Given the description of an element on the screen output the (x, y) to click on. 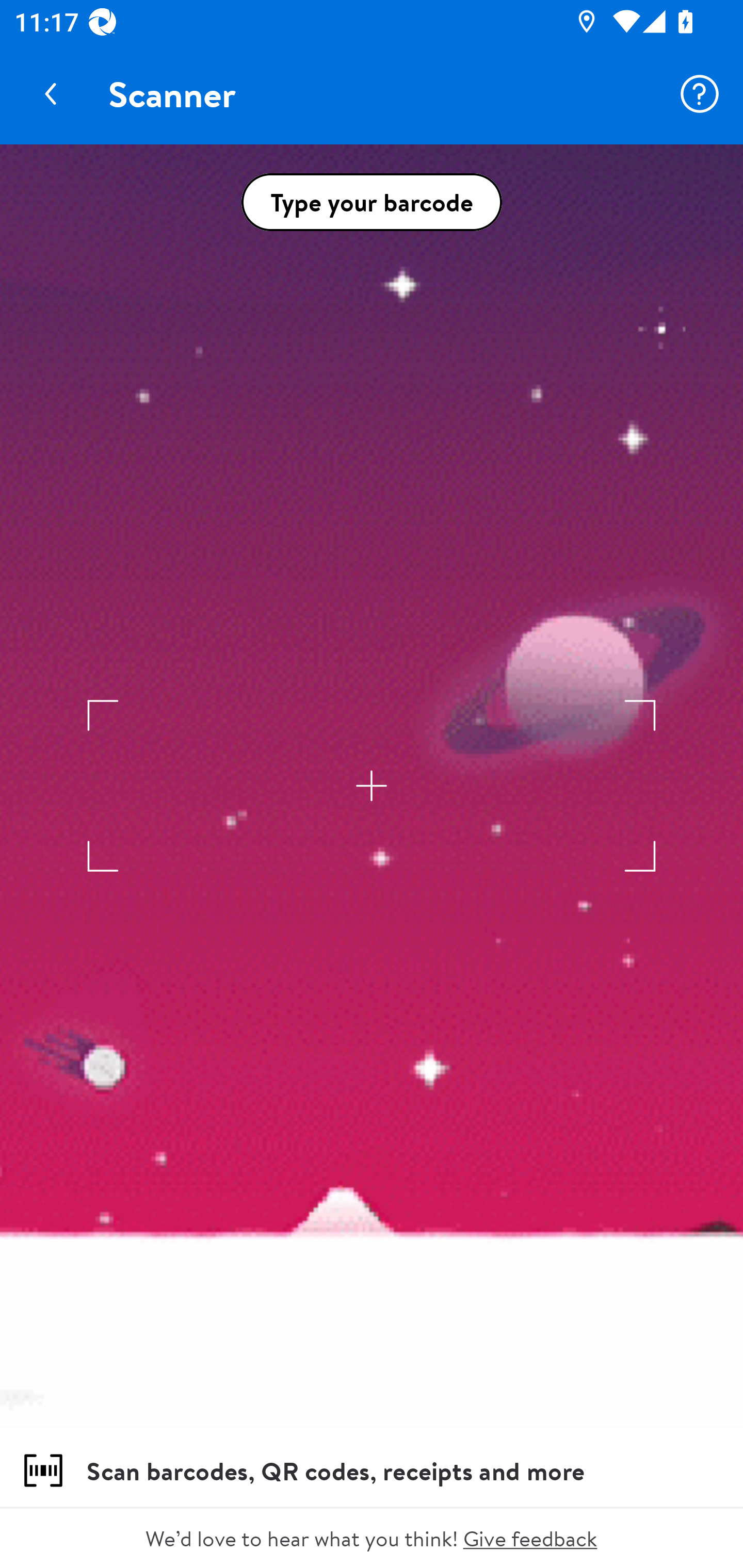
Navigate up (50, 93)
Help (699, 93)
Type your barcode (371, 202)
We’d love to hear what you think! Give feedback (371, 1538)
